Given the description of an element on the screen output the (x, y) to click on. 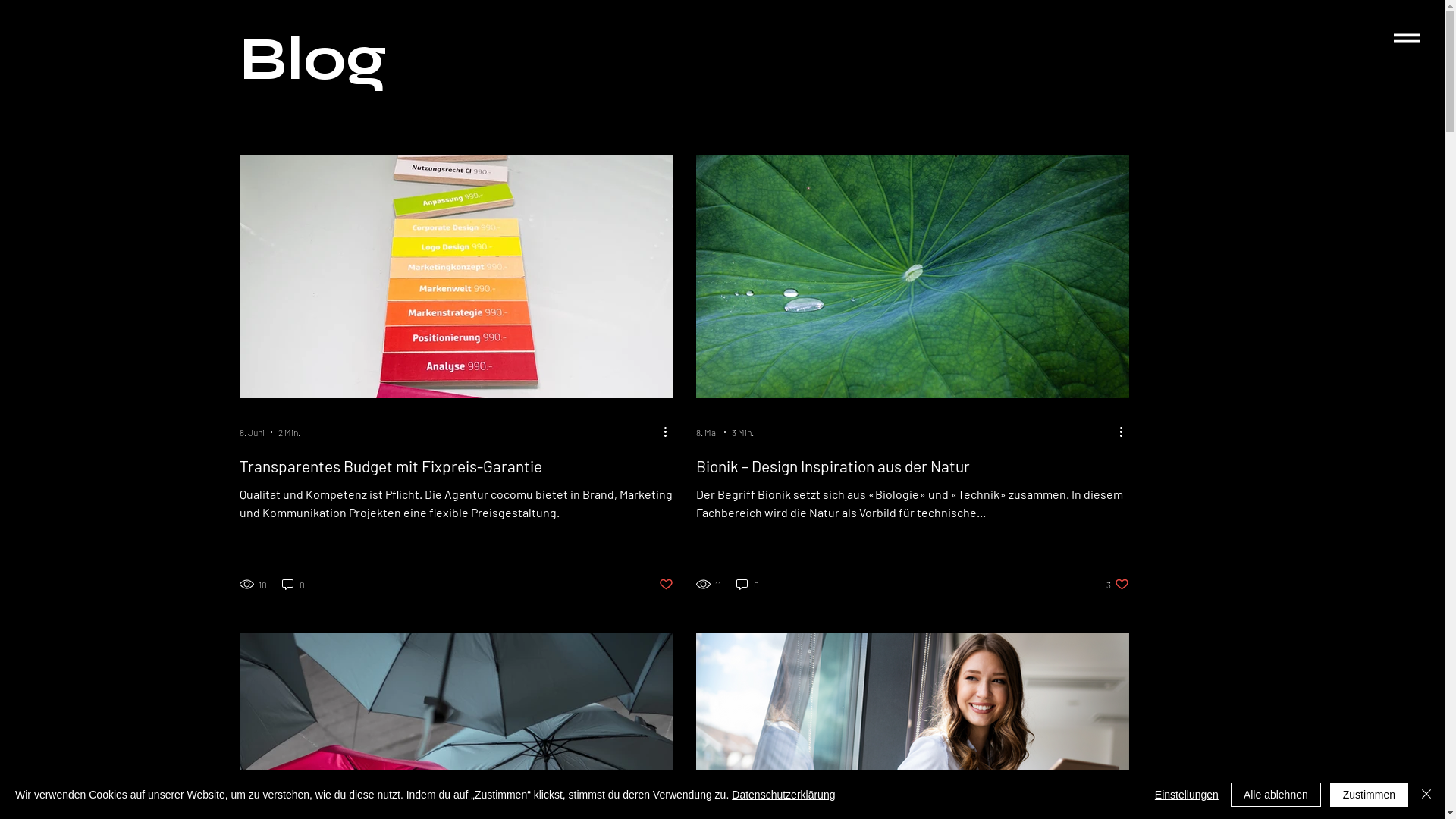
0 Element type: text (293, 584)
Transparentes Budget mit Fixpreis-Garantie Element type: text (456, 465)
Alle ablehnen Element type: text (1275, 794)
0 Element type: text (747, 584)
Zustimmen Element type: text (1369, 794)
